Given the description of an element on the screen output the (x, y) to click on. 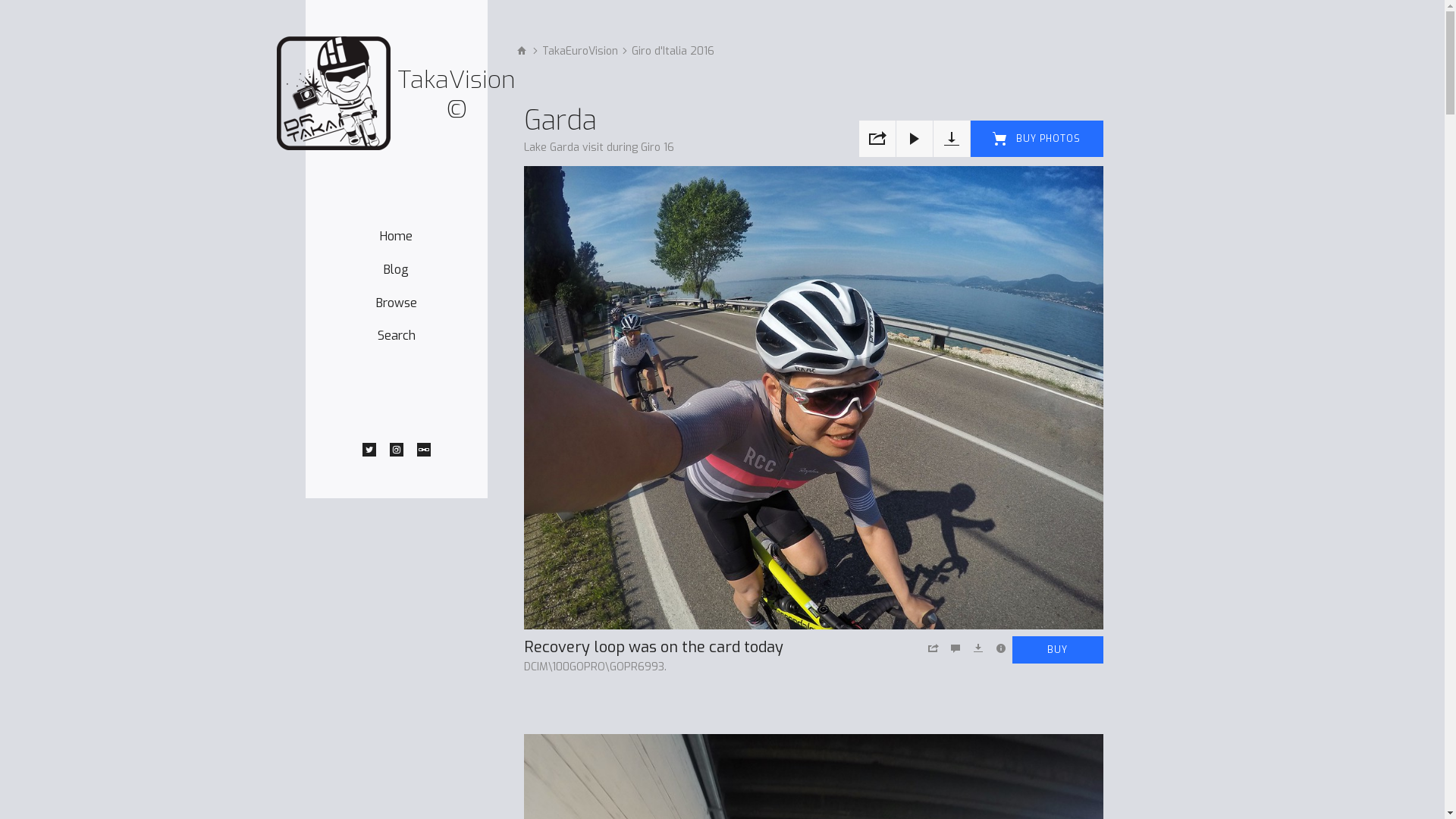
Search Element type: text (396, 335)
Download All Element type: hover (950, 138)
Slideshow Element type: hover (914, 138)
BUY Element type: text (1056, 649)
BUY PHOTOS Element type: text (1036, 138)
Share Element type: hover (931, 648)
Blog Element type: text (395, 269)
Info Element type: hover (999, 648)
Share Gallery Element type: hover (876, 138)
TakaEuroVision Element type: text (579, 50)
Browse Element type: text (396, 302)
Comment Element type: hover (954, 648)
Home Element type: text (395, 236)
Giro d'Italia 2016 Element type: text (671, 50)
Download Element type: hover (977, 648)
